Given the description of an element on the screen output the (x, y) to click on. 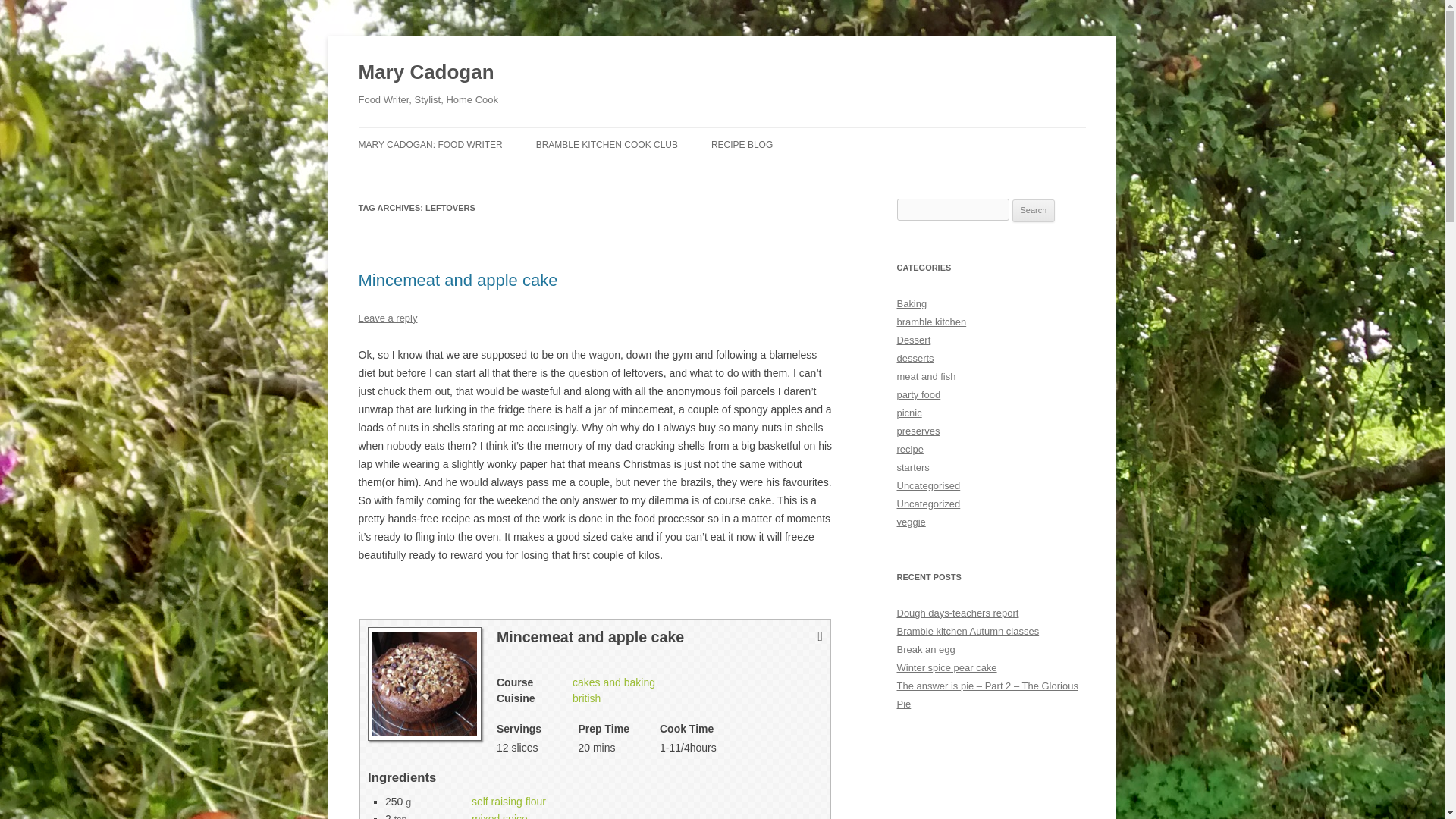
BRAMBLE KITCHEN COOK CLUB (606, 144)
self raising flour (508, 801)
MARY CADOGAN: FOOD WRITER (430, 144)
Mary Cadogan (425, 72)
Search (1033, 210)
RECIPE BLOG (742, 144)
Leave a reply (387, 317)
mixed spice (499, 816)
Mincemeat and apple cake (457, 280)
Baking (911, 303)
MEAT AND FISH (787, 176)
british (585, 698)
ABOUT ME (433, 176)
